Given the description of an element on the screen output the (x, y) to click on. 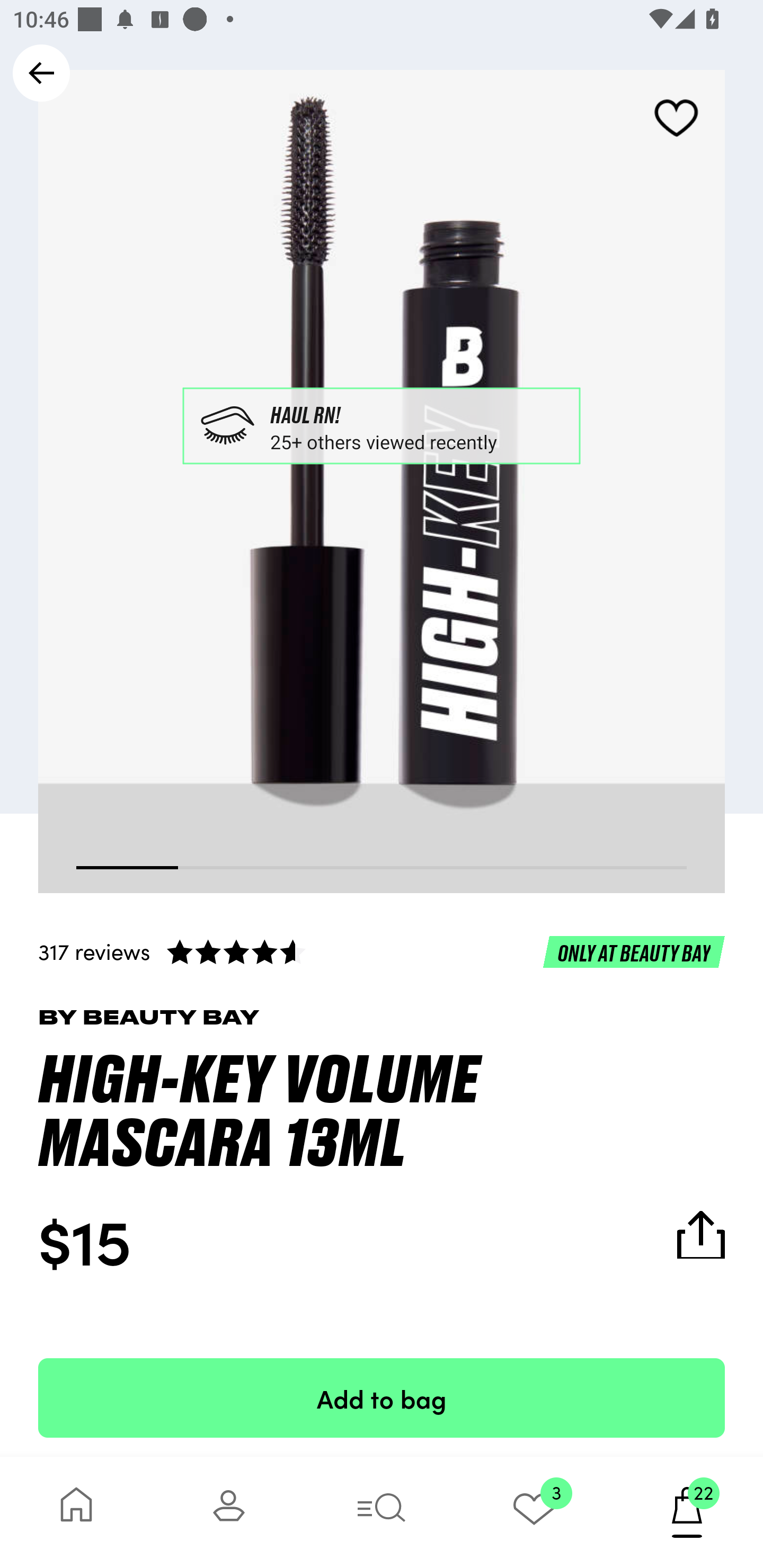
317 reviews (381, 950)
Add to bag (381, 1397)
3 (533, 1512)
22 (686, 1512)
